Given the description of an element on the screen output the (x, y) to click on. 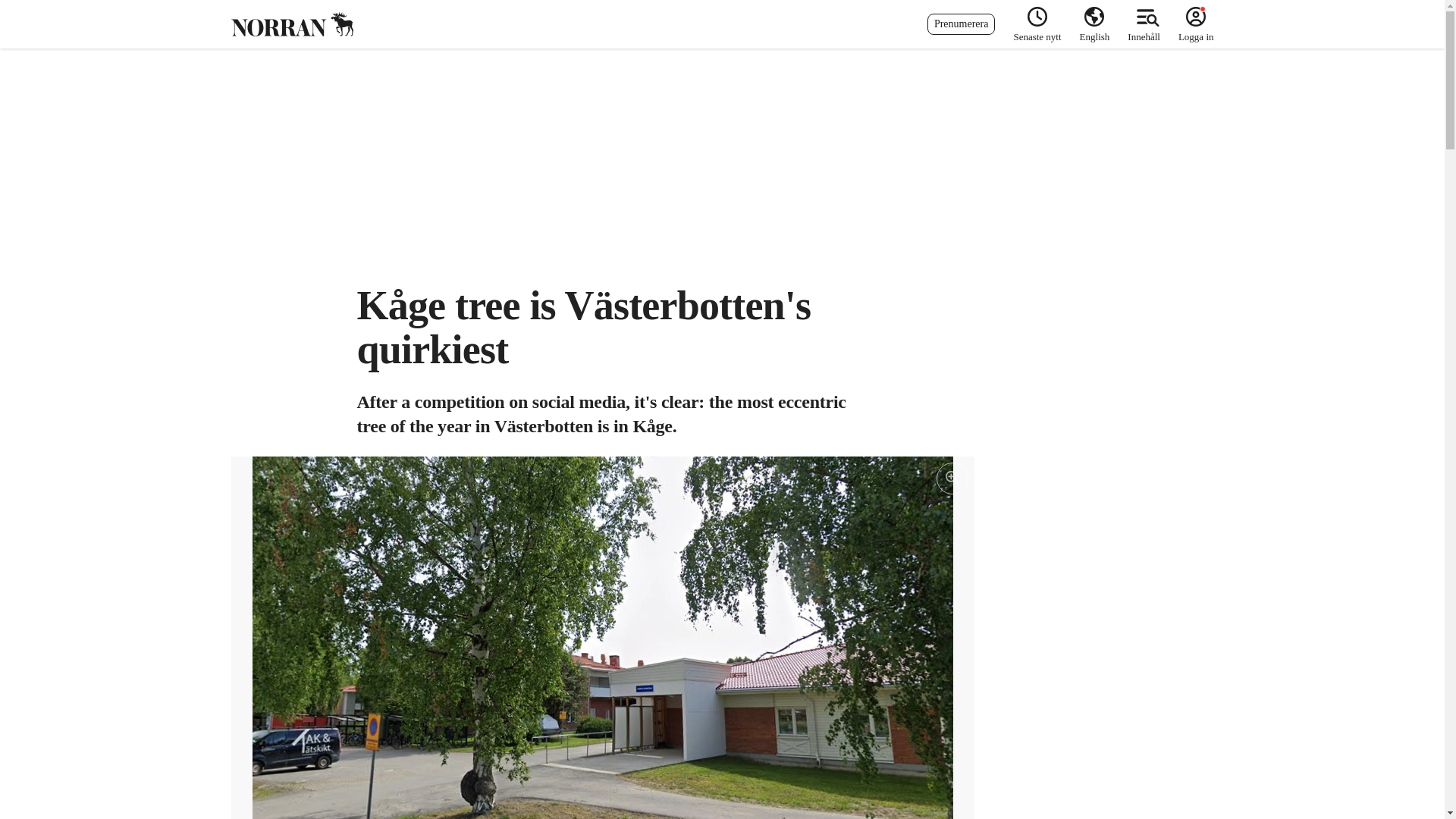
Logga in (1191, 24)
Senaste nytt (1037, 24)
Prenumerera (961, 24)
Senaste nytt (1037, 24)
English (1094, 24)
English (1094, 24)
Logga in (1191, 24)
Norran - lokala nyheter just nu (291, 23)
Prenumerera (961, 24)
